Given the description of an element on the screen output the (x, y) to click on. 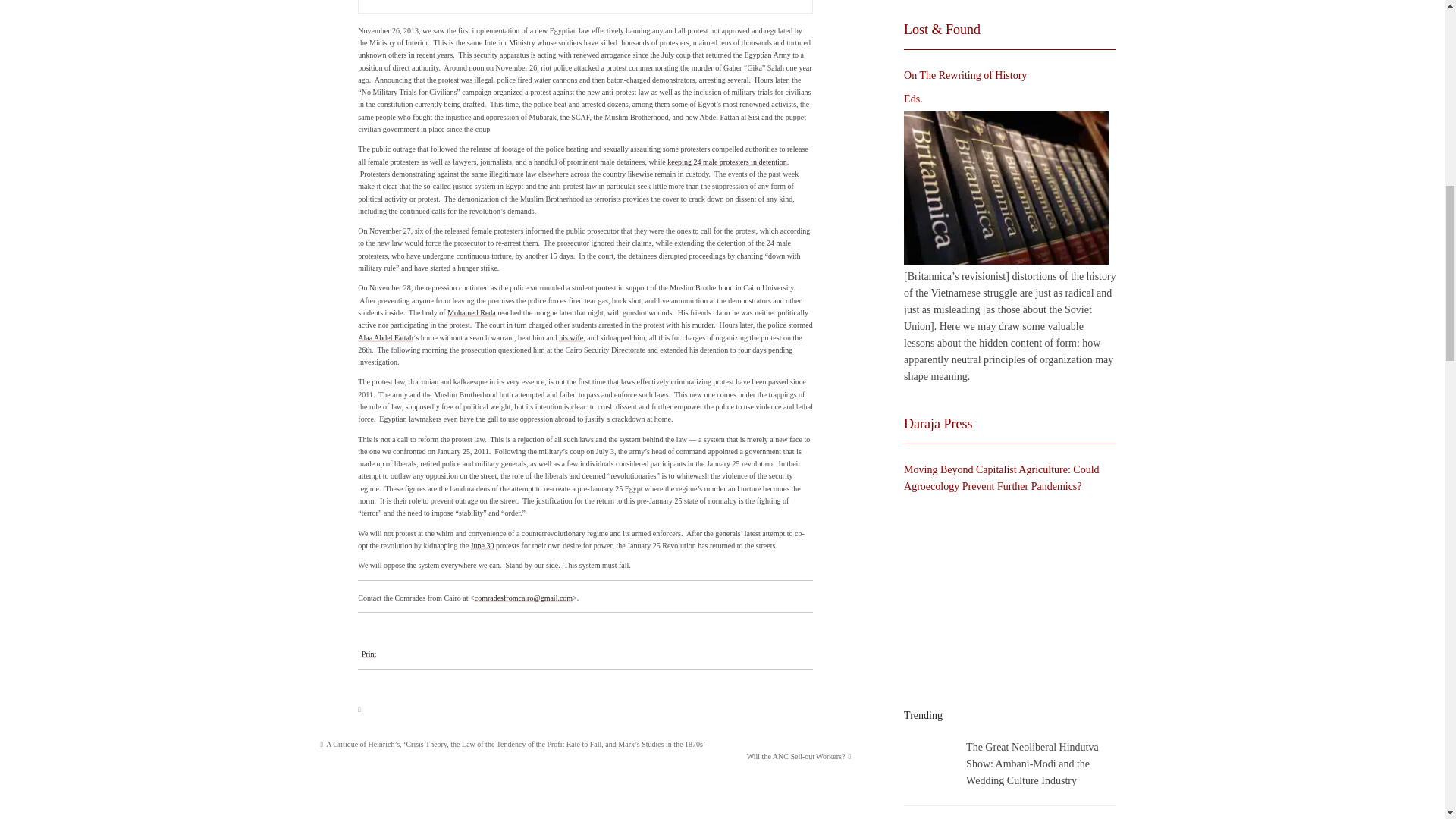
Posts by Eds. (913, 98)
On The Rewriting of History (1006, 187)
